Given the description of an element on the screen output the (x, y) to click on. 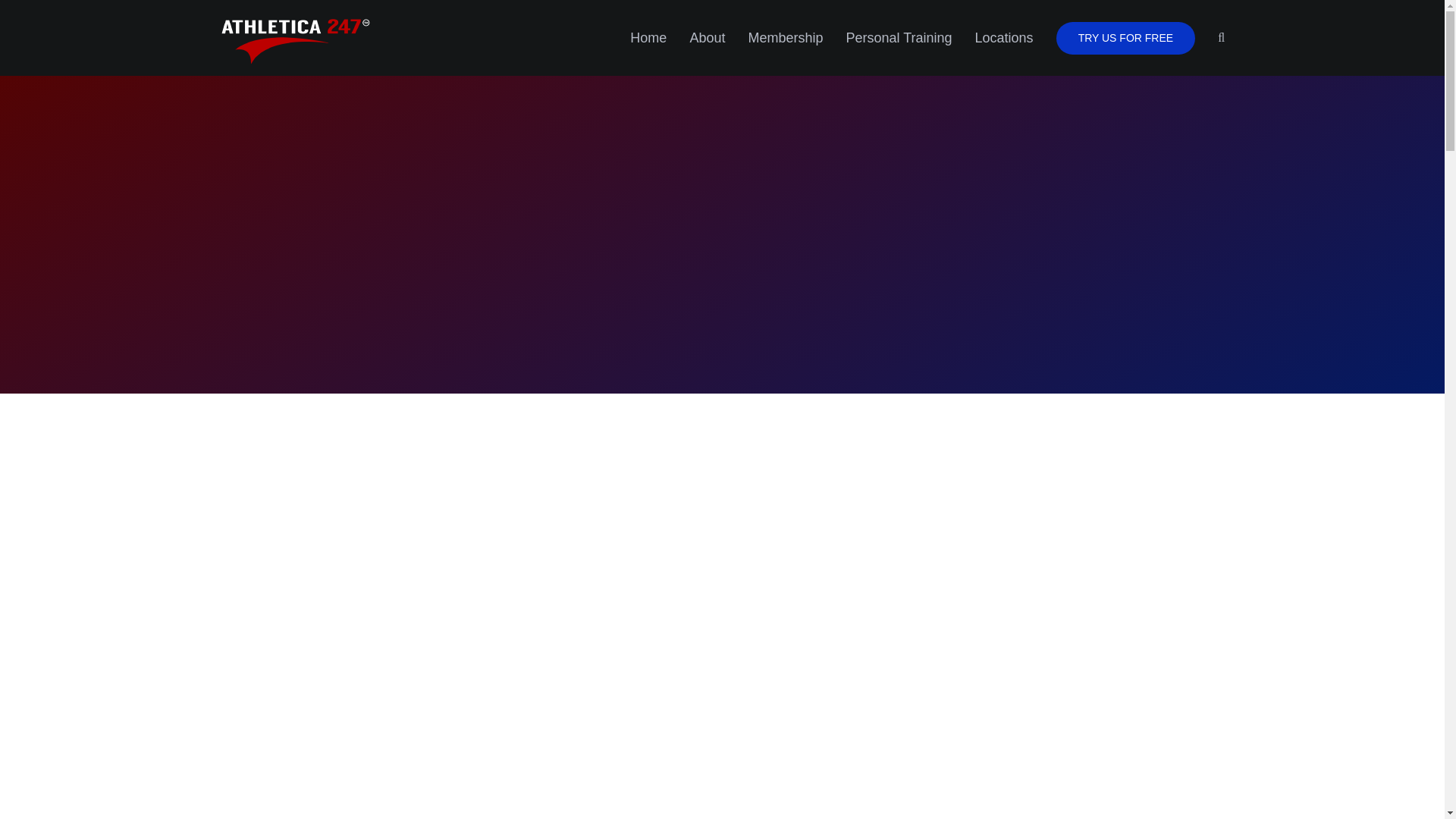
Personal Training (898, 38)
TRY US FOR FREE (1126, 38)
Membership (785, 38)
